Given the description of an element on the screen output the (x, y) to click on. 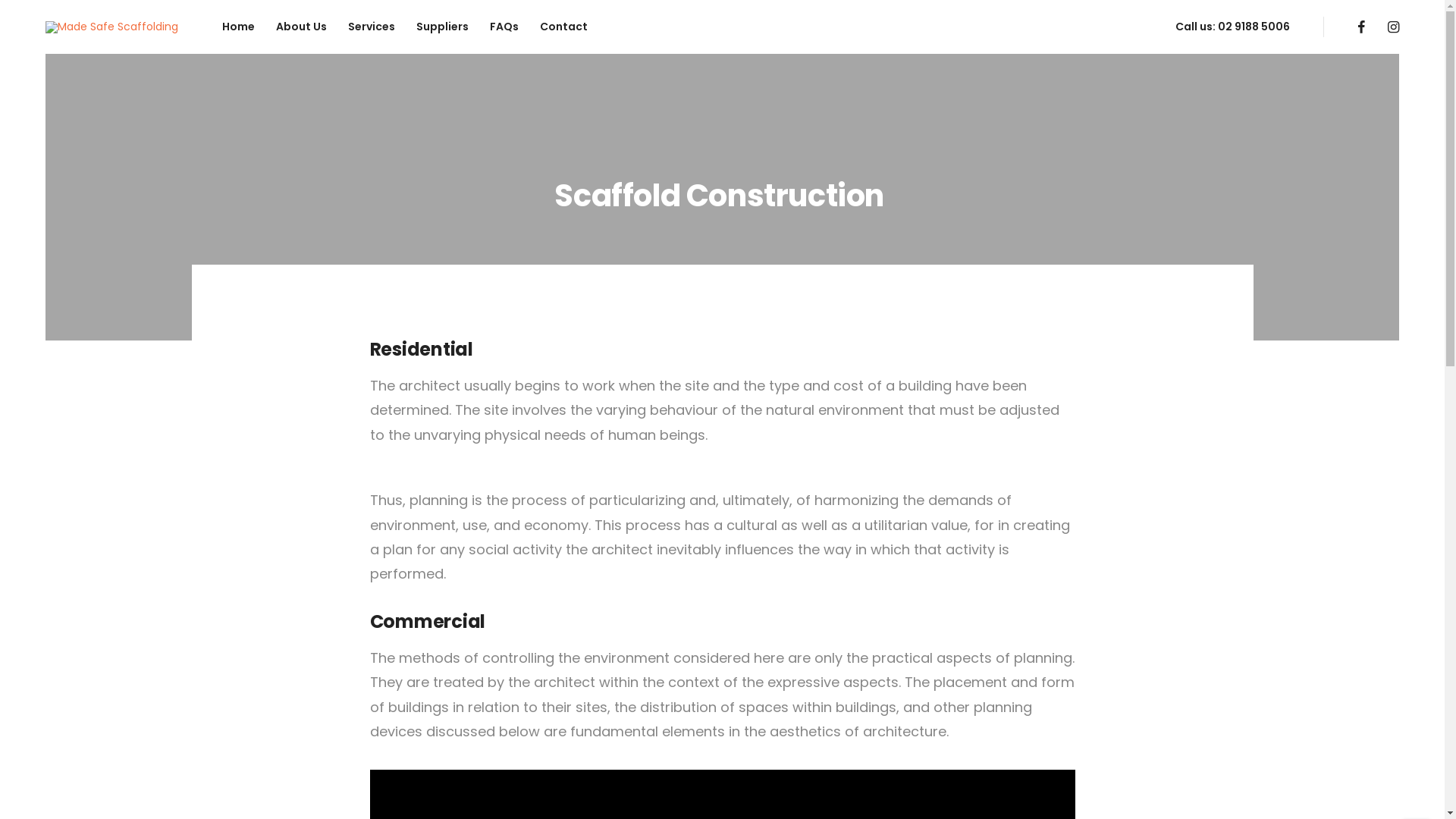
Home Element type: text (238, 26)
FAQs Element type: text (504, 26)
Contact Element type: text (563, 26)
Services Element type: text (371, 26)
About Us Element type: text (301, 26)
02 9188 5006 Element type: text (1253, 26)
Suppliers Element type: text (442, 26)
Facebook Element type: hover (1361, 26)
Instagram Element type: hover (1393, 26)
